Given the description of an element on the screen output the (x, y) to click on. 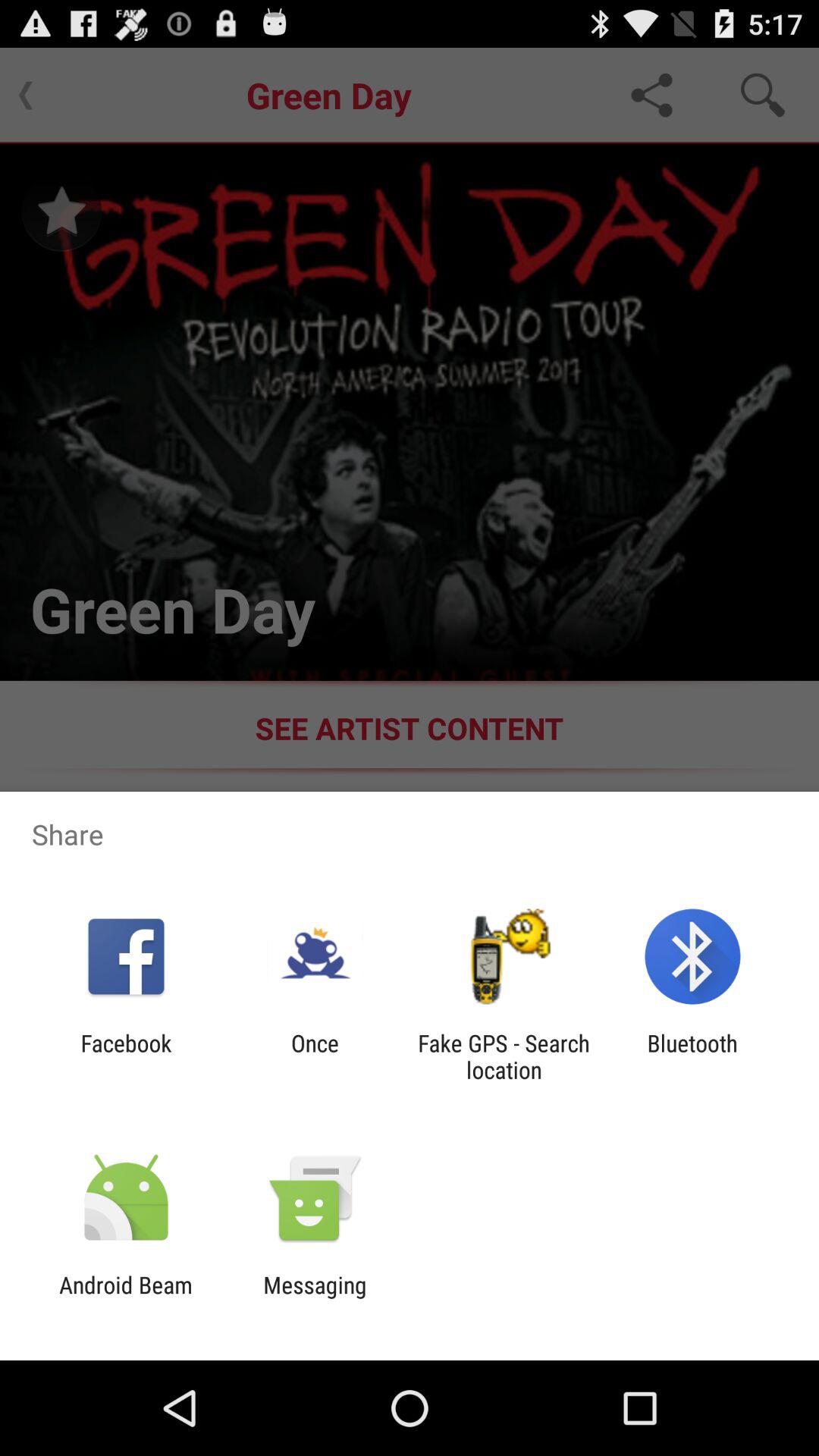
choose the app next to once item (125, 1056)
